Given the description of an element on the screen output the (x, y) to click on. 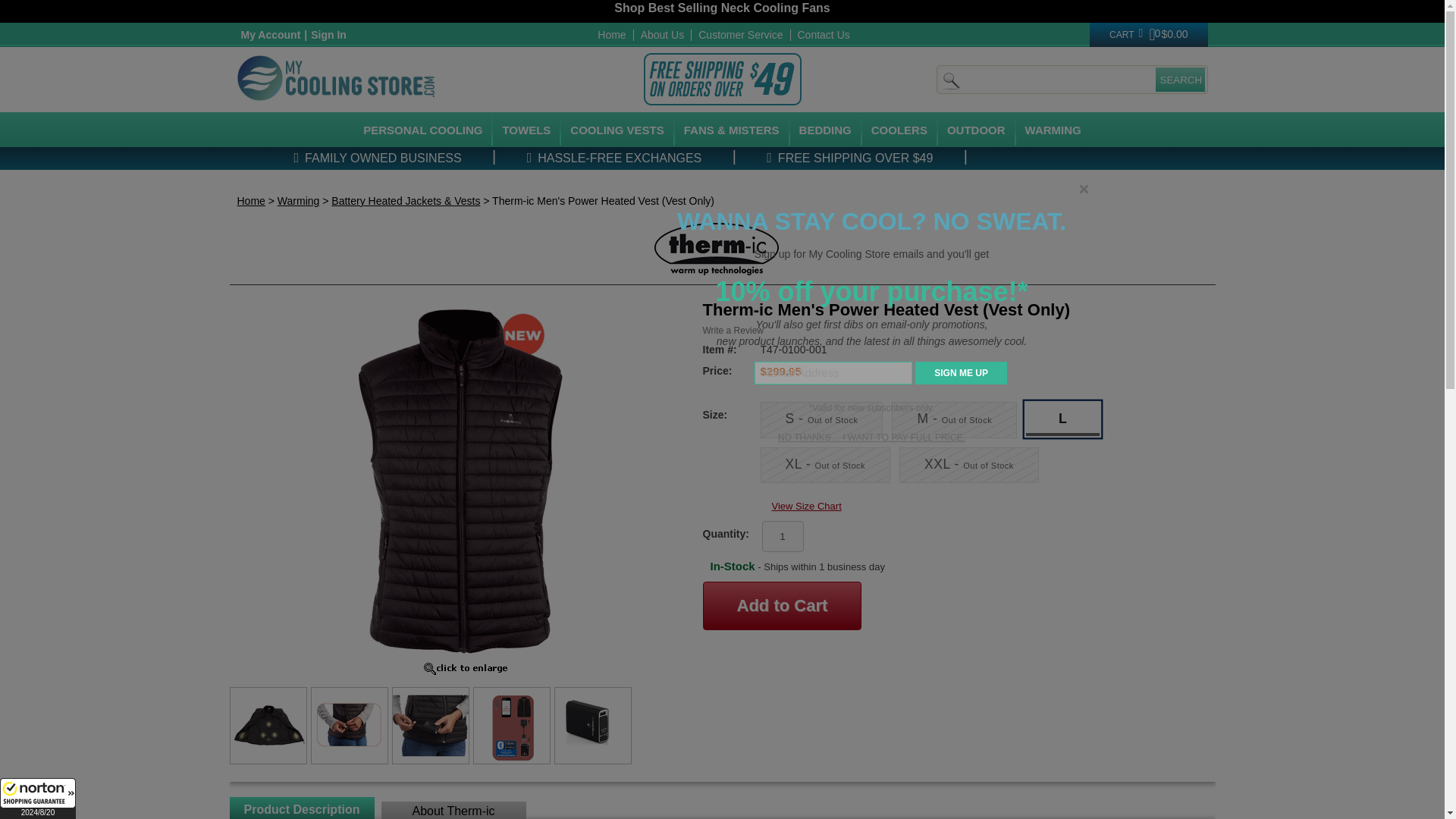
SIGN ME UP (961, 372)
Click to View Size Chart (806, 505)
Out of Stock (969, 465)
My Account (269, 34)
Customer Service (740, 34)
Contact Us (823, 34)
Out of Stock (824, 465)
Close (1083, 188)
1 (782, 536)
Shop Best Selling Neck Cooling Fans (721, 7)
